Given the description of an element on the screen output the (x, y) to click on. 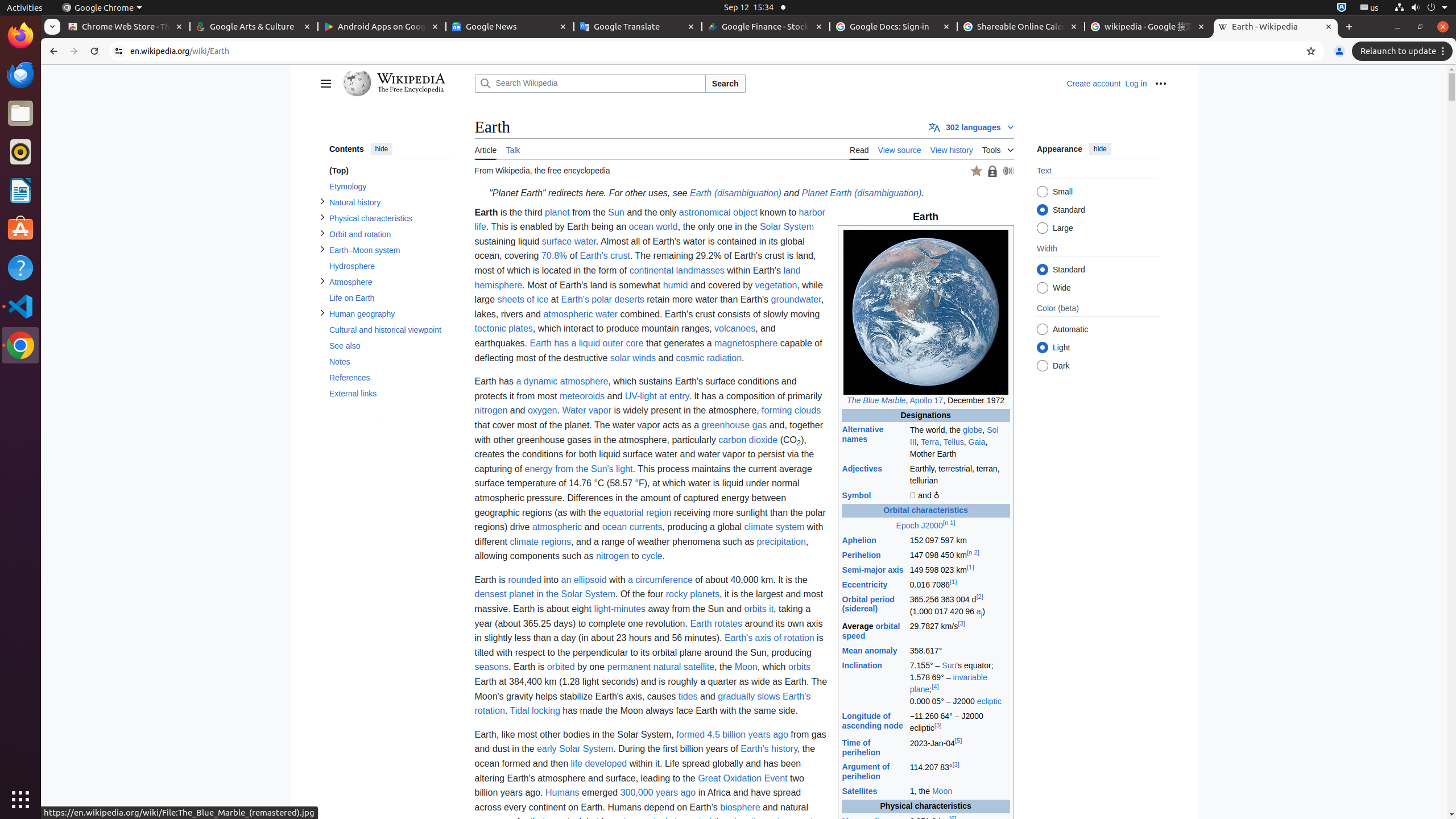
Inclination Element type: link (861, 664)
[n 2] Element type: link (972, 552)
[5] Element type: link (958, 739)
Cultural and historical viewpoint Element type: link (390, 329)
Photograph of Earth taken by the Apollo 17 mission. The Arabian peninsula, Africa and Madagascar lie in the upper half of the disc, whereas Antarctica is at the bottom. Element type: link (925, 311)
